Given the description of an element on the screen output the (x, y) to click on. 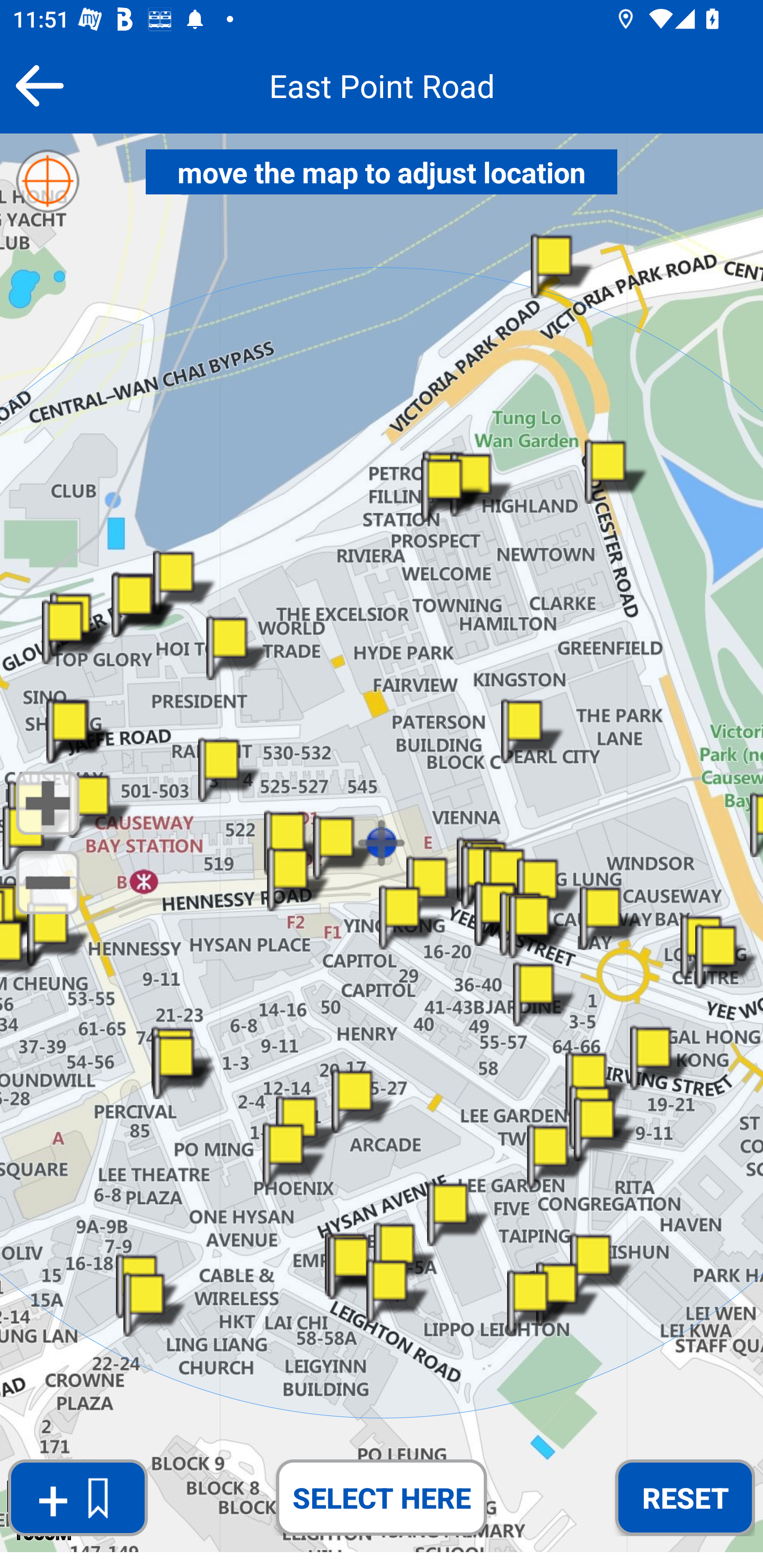
Back (39, 85)
Add bookmark (77, 1497)
SELECT HERE (381, 1497)
RESET (684, 1497)
